Given the description of an element on the screen output the (x, y) to click on. 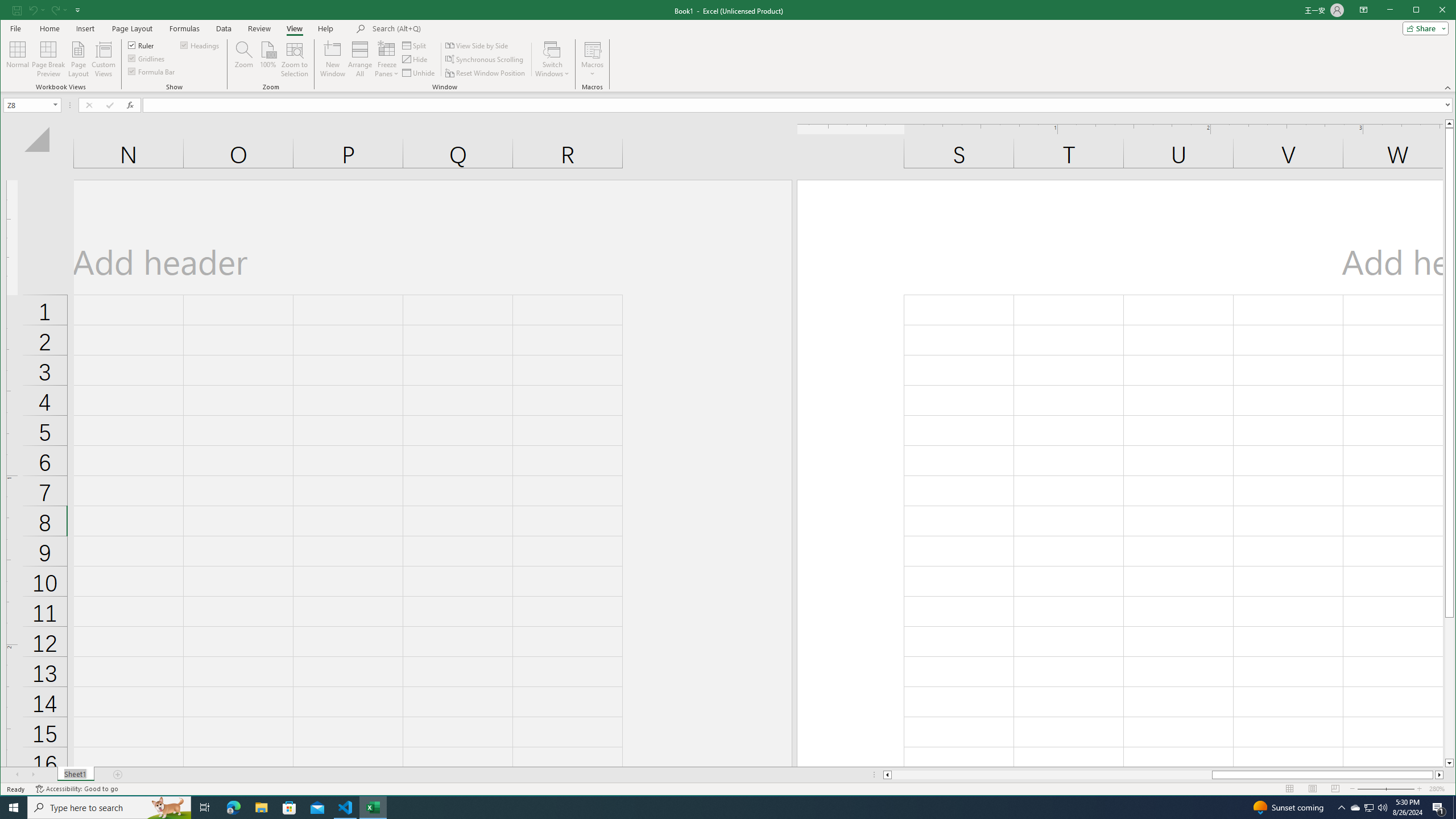
Reset Window Position (486, 72)
Unhide... (419, 72)
Zoom... (243, 59)
